Given the description of an element on the screen output the (x, y) to click on. 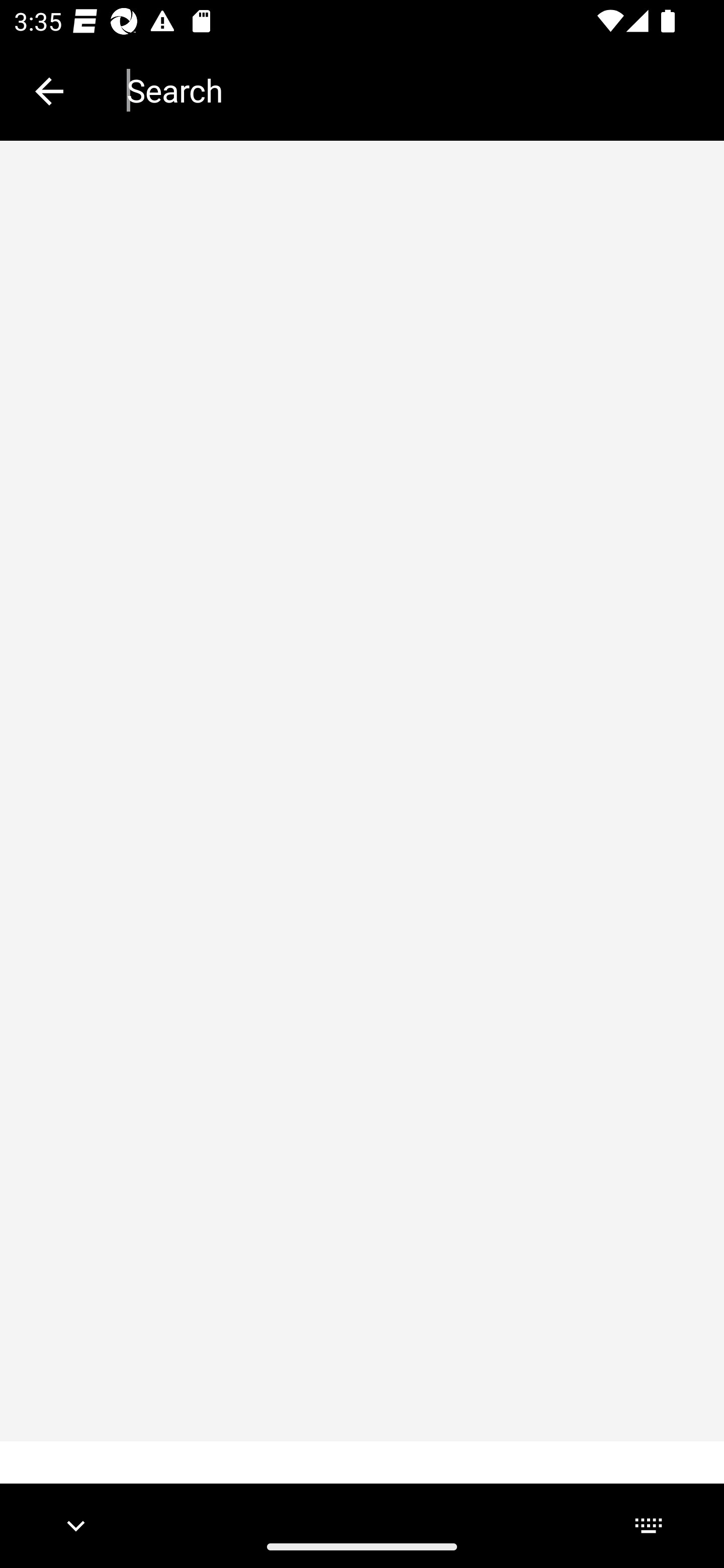
Collapse (49, 91)
Search (411, 90)
